Given the description of an element on the screen output the (x, y) to click on. 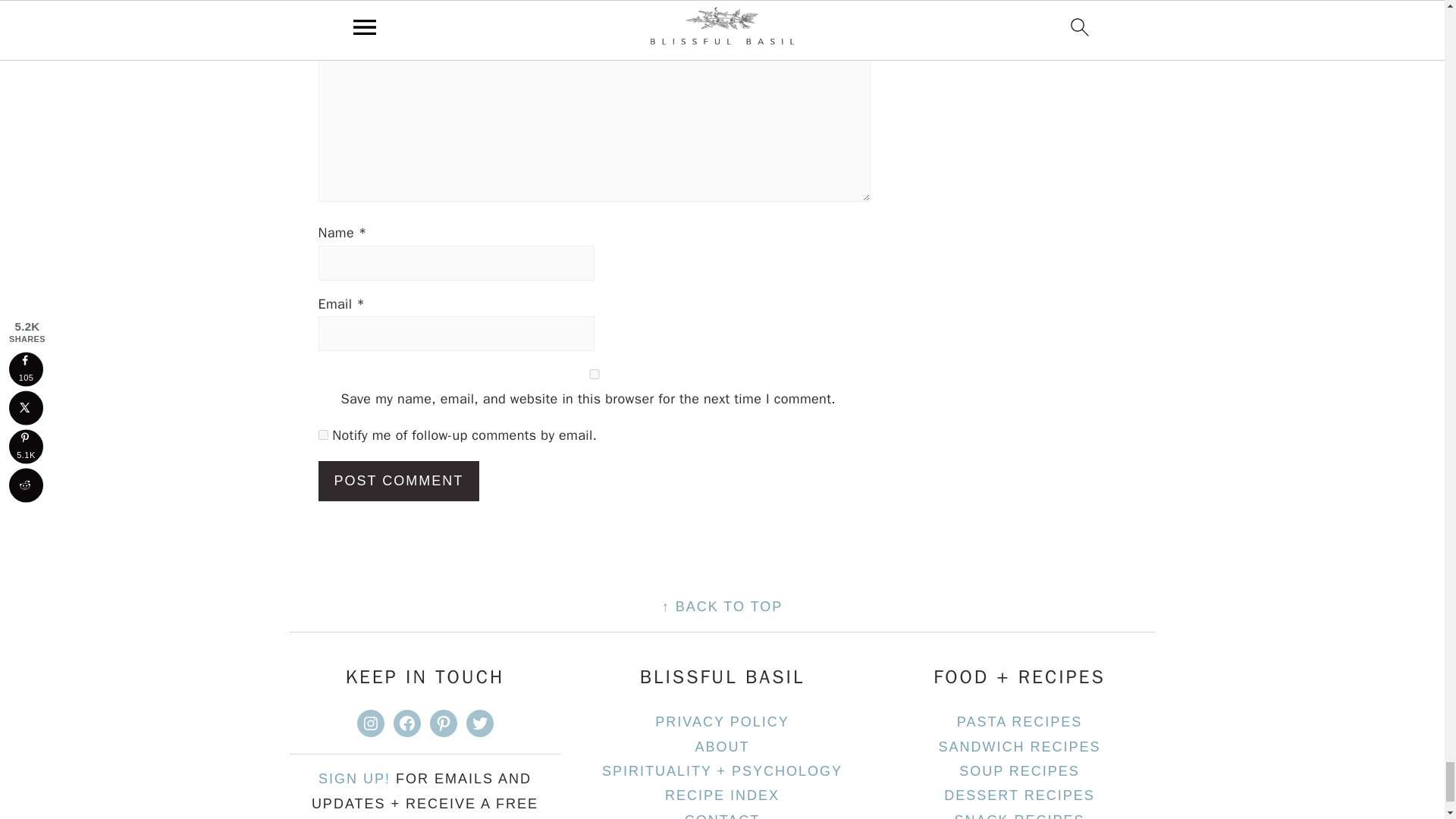
subscribe (323, 434)
Post Comment (399, 481)
yes (594, 374)
